Given the description of an element on the screen output the (x, y) to click on. 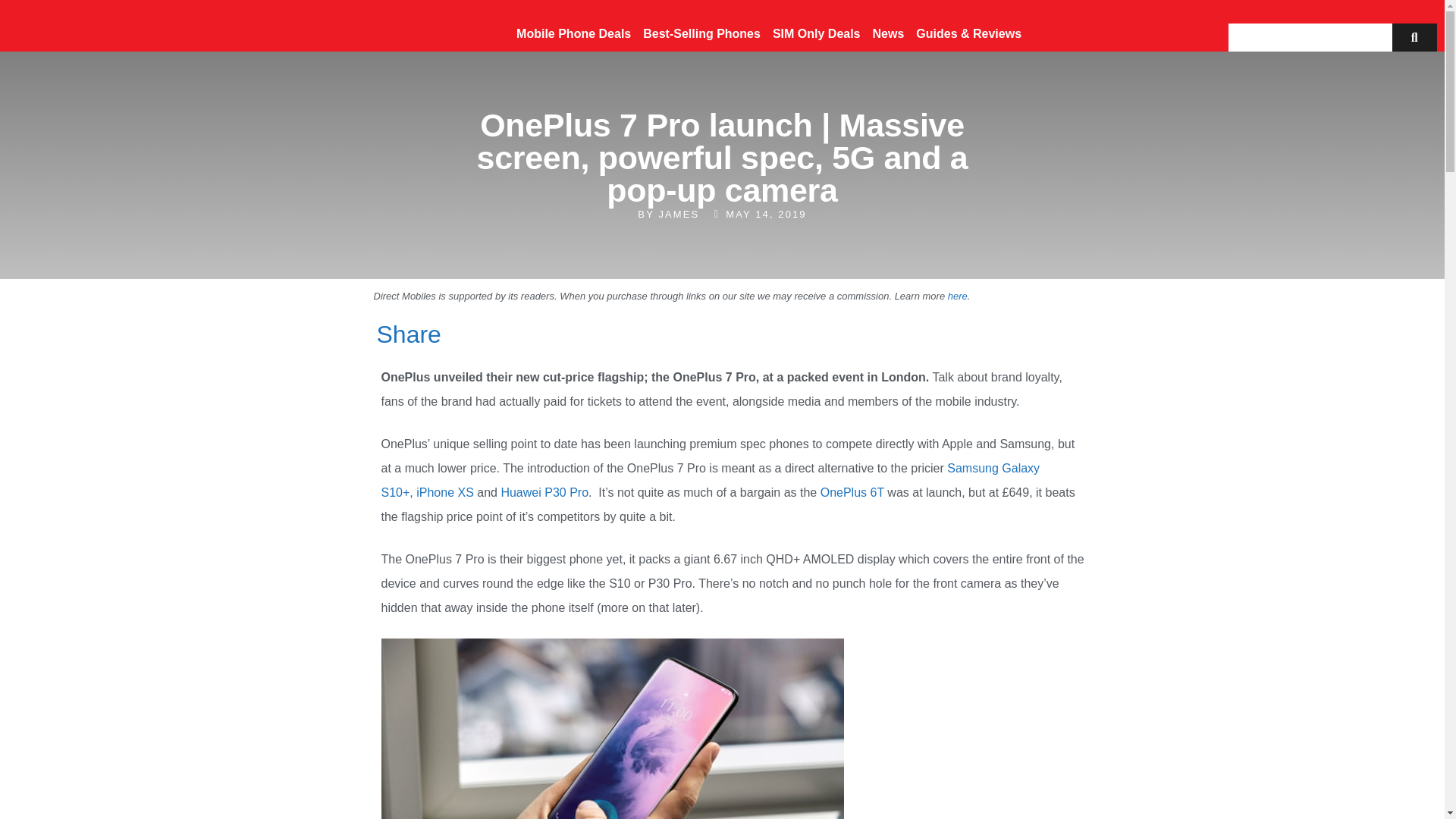
Mobile Phone Deals (574, 33)
News (888, 33)
Best-Selling Phones (702, 33)
SIM Only Deals (816, 33)
